Given the description of an element on the screen output the (x, y) to click on. 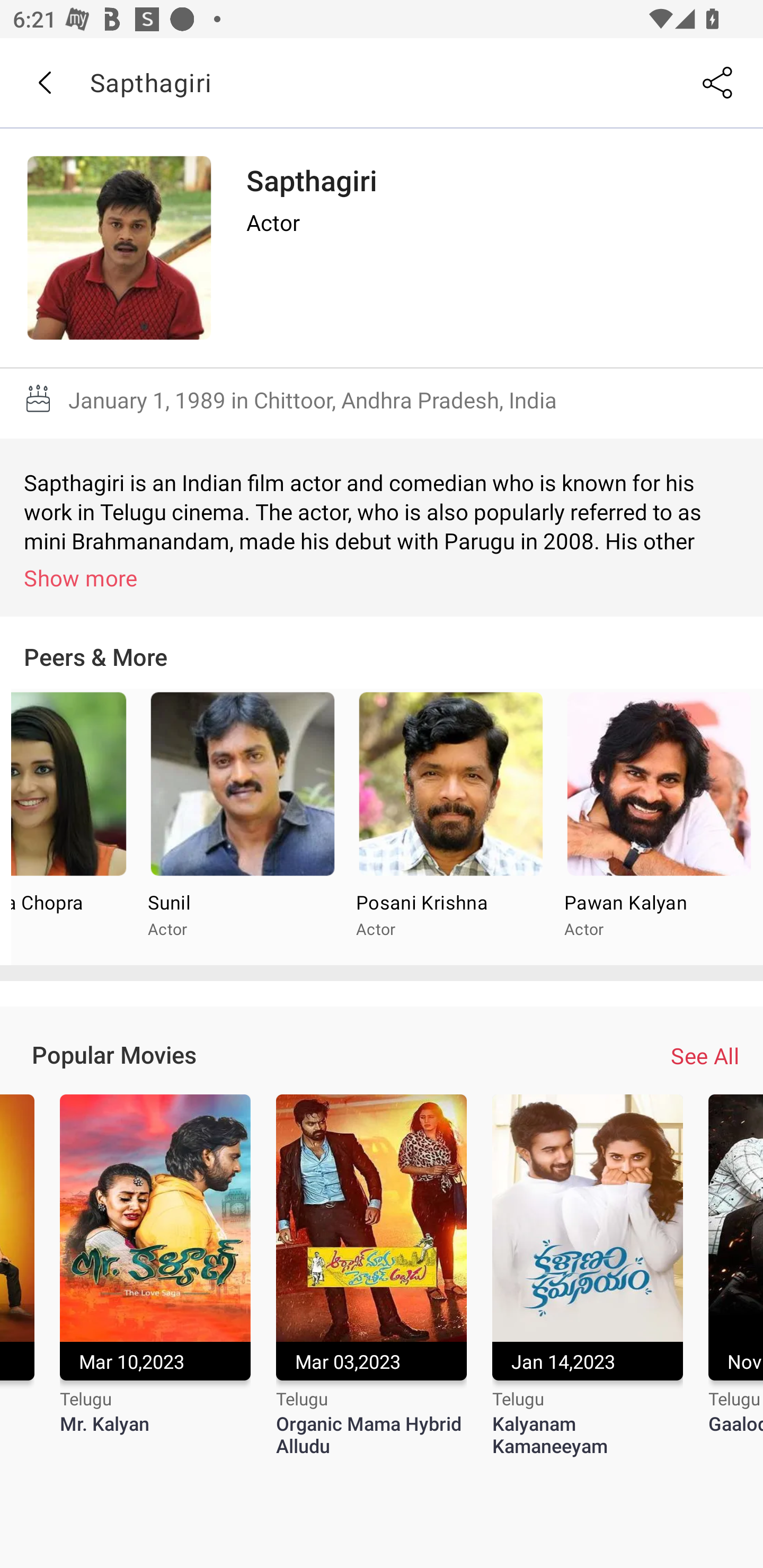
Back (44, 82)
Show more (384, 577)
Mannara Chopra Actor (74, 826)
Sunil Actor (242, 826)
Posani Krishna Murali Actor (450, 826)
Pawan Kalyan Actor (658, 826)
See All (704, 1055)
Mar 10,2023 Telugu Mr. Kalyan (154, 1276)
Mar 03,2023 Telugu Organic Mama Hybrid Alludu (371, 1276)
Jan 14,2023 Telugu Kalyanam Kamaneeyam (587, 1276)
